Given the description of an element on the screen output the (x, y) to click on. 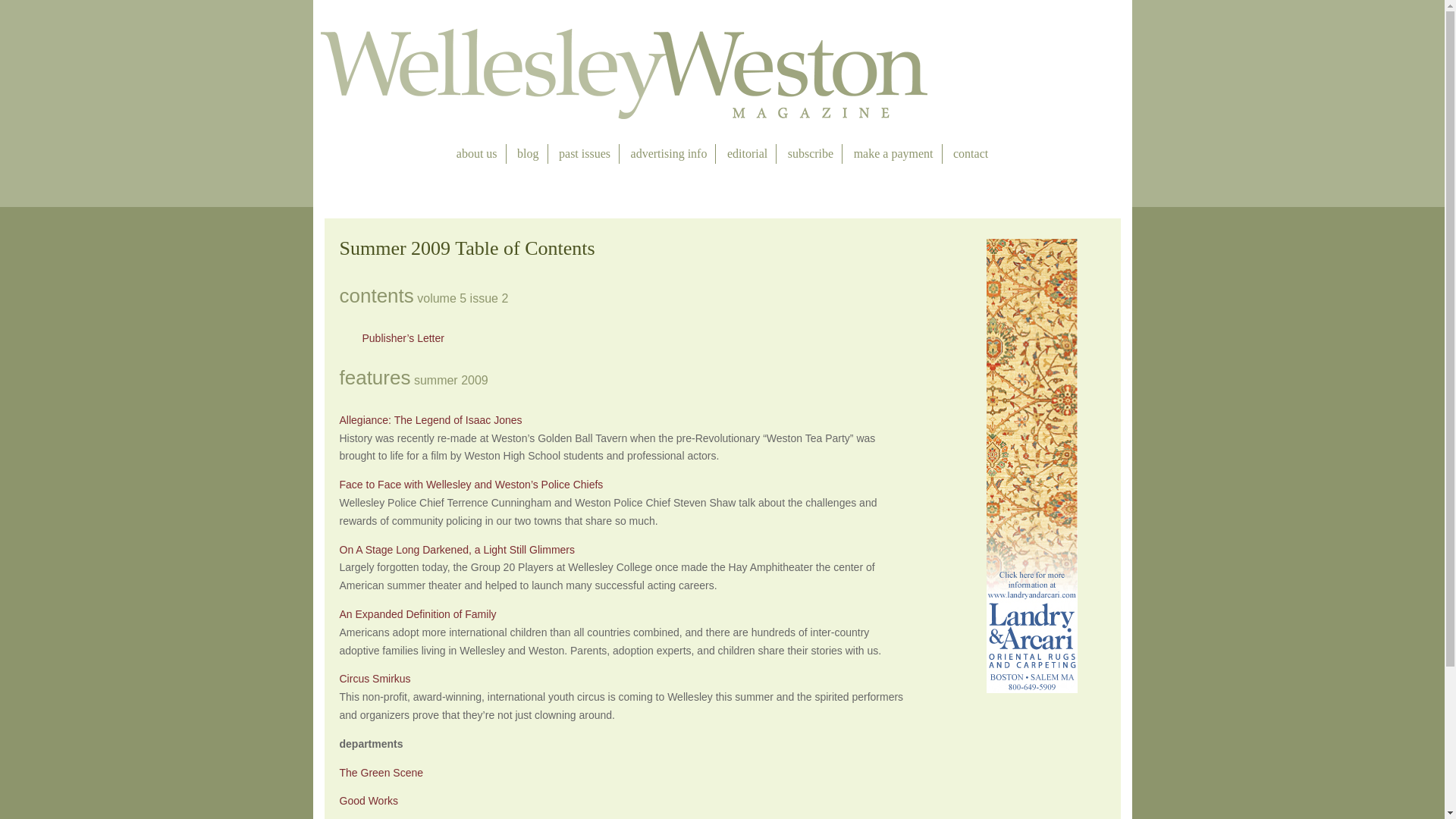
subscribe (809, 153)
On A Stage Long Darkened, a Light Still Glimmers (457, 549)
advertising info (668, 153)
An Expanded Definition of Family (417, 613)
Allegiance: The Legend of Isaac Jones (430, 419)
make a payment (893, 153)
editorial (746, 153)
blog (527, 153)
contact (970, 153)
Good Works (368, 800)
